Given the description of an element on the screen output the (x, y) to click on. 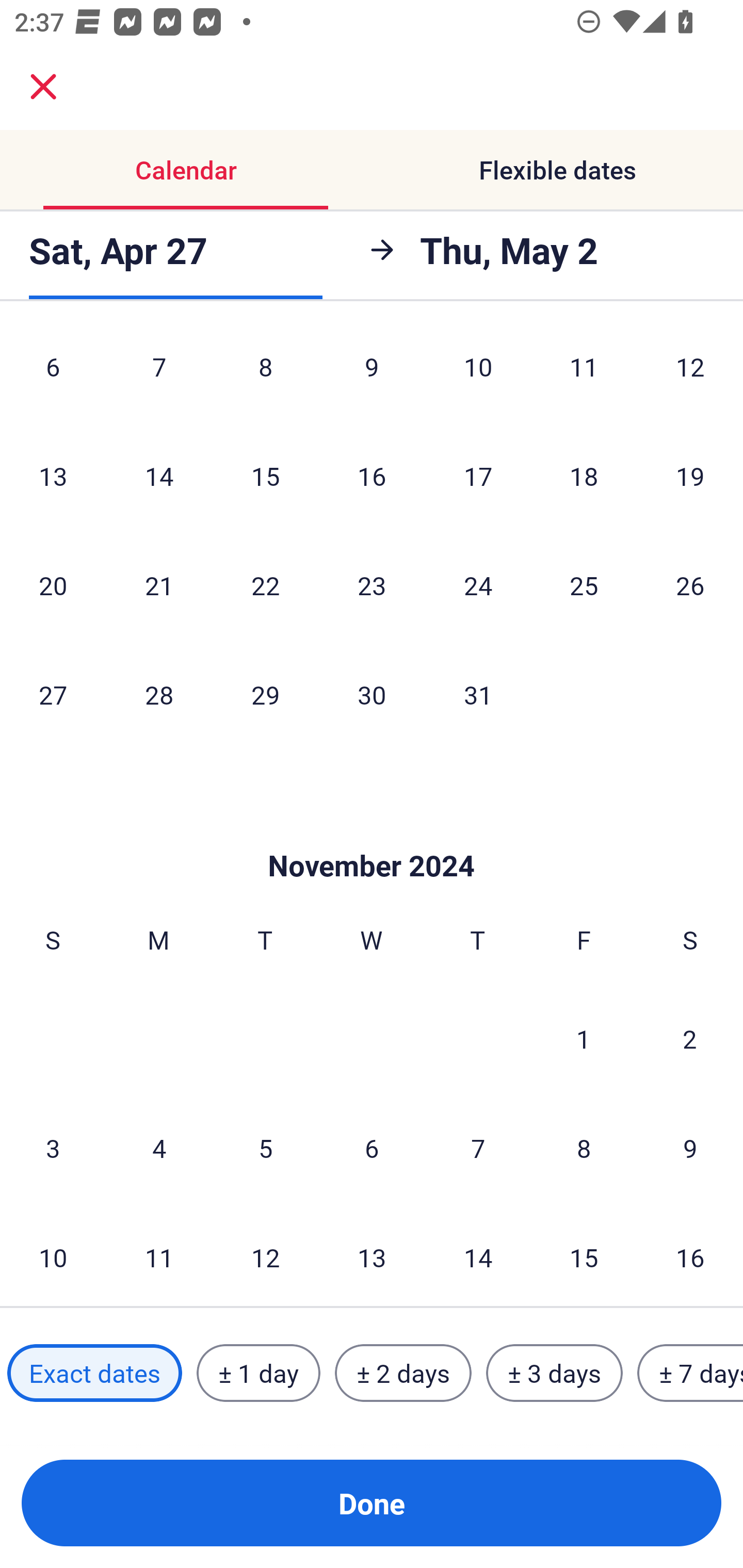
close. (43, 86)
Flexible dates (557, 170)
6 Sunday, October 6, 2024 (53, 374)
7 Monday, October 7, 2024 (159, 374)
8 Tuesday, October 8, 2024 (265, 374)
9 Wednesday, October 9, 2024 (371, 374)
10 Thursday, October 10, 2024 (477, 374)
11 Friday, October 11, 2024 (584, 374)
12 Saturday, October 12, 2024 (690, 374)
13 Sunday, October 13, 2024 (53, 475)
14 Monday, October 14, 2024 (159, 475)
15 Tuesday, October 15, 2024 (265, 475)
16 Wednesday, October 16, 2024 (371, 475)
17 Thursday, October 17, 2024 (477, 475)
18 Friday, October 18, 2024 (584, 475)
19 Saturday, October 19, 2024 (690, 475)
20 Sunday, October 20, 2024 (53, 584)
21 Monday, October 21, 2024 (159, 584)
22 Tuesday, October 22, 2024 (265, 584)
23 Wednesday, October 23, 2024 (371, 584)
24 Thursday, October 24, 2024 (477, 584)
25 Friday, October 25, 2024 (584, 584)
26 Saturday, October 26, 2024 (690, 584)
27 Sunday, October 27, 2024 (53, 694)
28 Monday, October 28, 2024 (159, 694)
29 Tuesday, October 29, 2024 (265, 694)
30 Wednesday, October 30, 2024 (371, 694)
31 Thursday, October 31, 2024 (477, 694)
Skip to Done (371, 834)
1 Friday, November 1, 2024 (583, 1038)
2 Saturday, November 2, 2024 (689, 1038)
3 Sunday, November 3, 2024 (53, 1147)
4 Monday, November 4, 2024 (159, 1147)
5 Tuesday, November 5, 2024 (265, 1147)
6 Wednesday, November 6, 2024 (371, 1147)
7 Thursday, November 7, 2024 (477, 1147)
8 Friday, November 8, 2024 (584, 1147)
9 Saturday, November 9, 2024 (690, 1147)
10 Sunday, November 10, 2024 (53, 1255)
11 Monday, November 11, 2024 (159, 1255)
12 Tuesday, November 12, 2024 (265, 1255)
13 Wednesday, November 13, 2024 (371, 1255)
14 Thursday, November 14, 2024 (477, 1255)
15 Friday, November 15, 2024 (584, 1255)
16 Saturday, November 16, 2024 (690, 1255)
Exact dates (94, 1372)
± 1 day (258, 1372)
± 2 days (403, 1372)
± 3 days (553, 1372)
± 7 days (690, 1372)
